Given the description of an element on the screen output the (x, y) to click on. 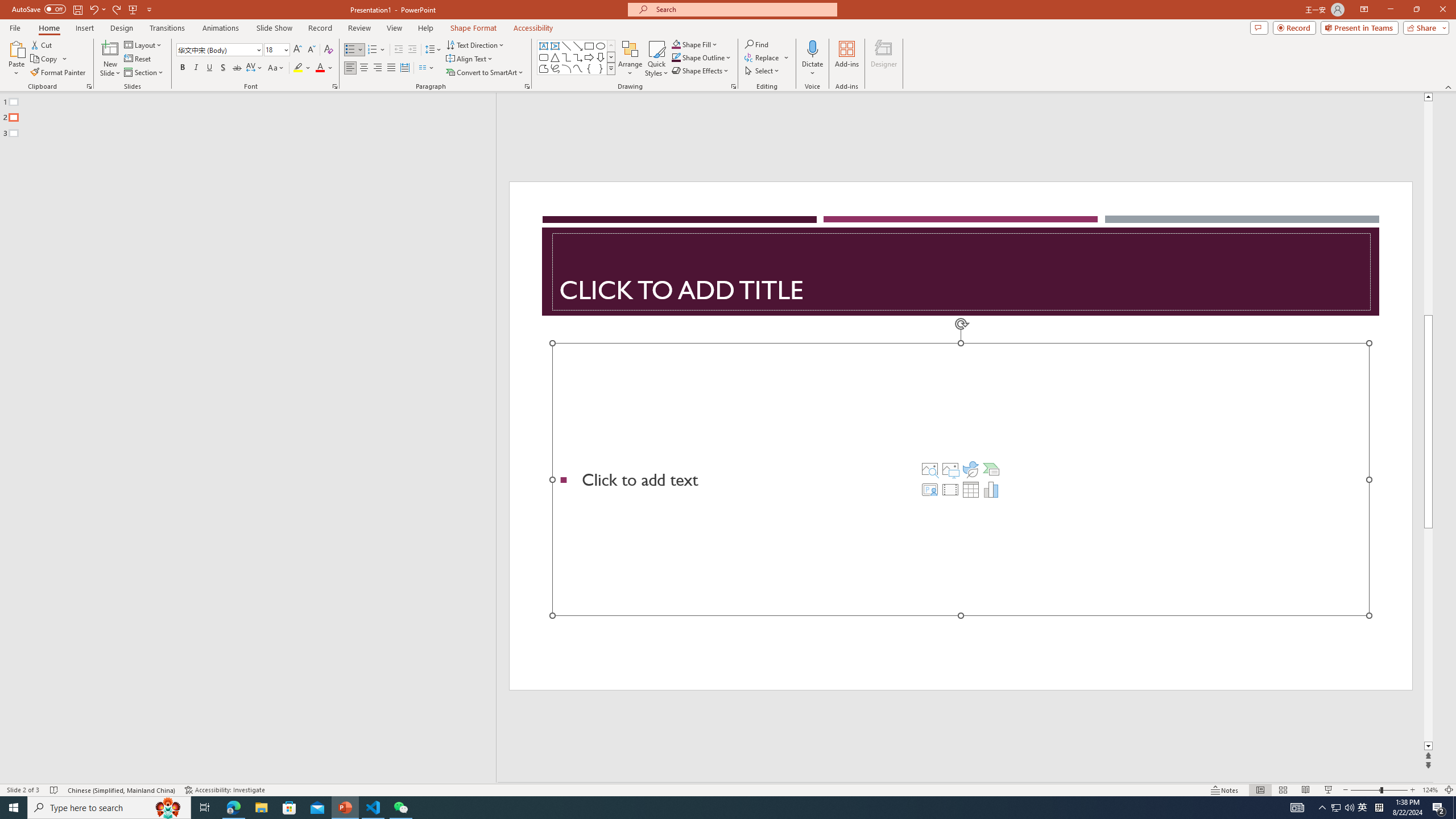
Insert a SmartArt Graphic (991, 469)
